Given the description of an element on the screen output the (x, y) to click on. 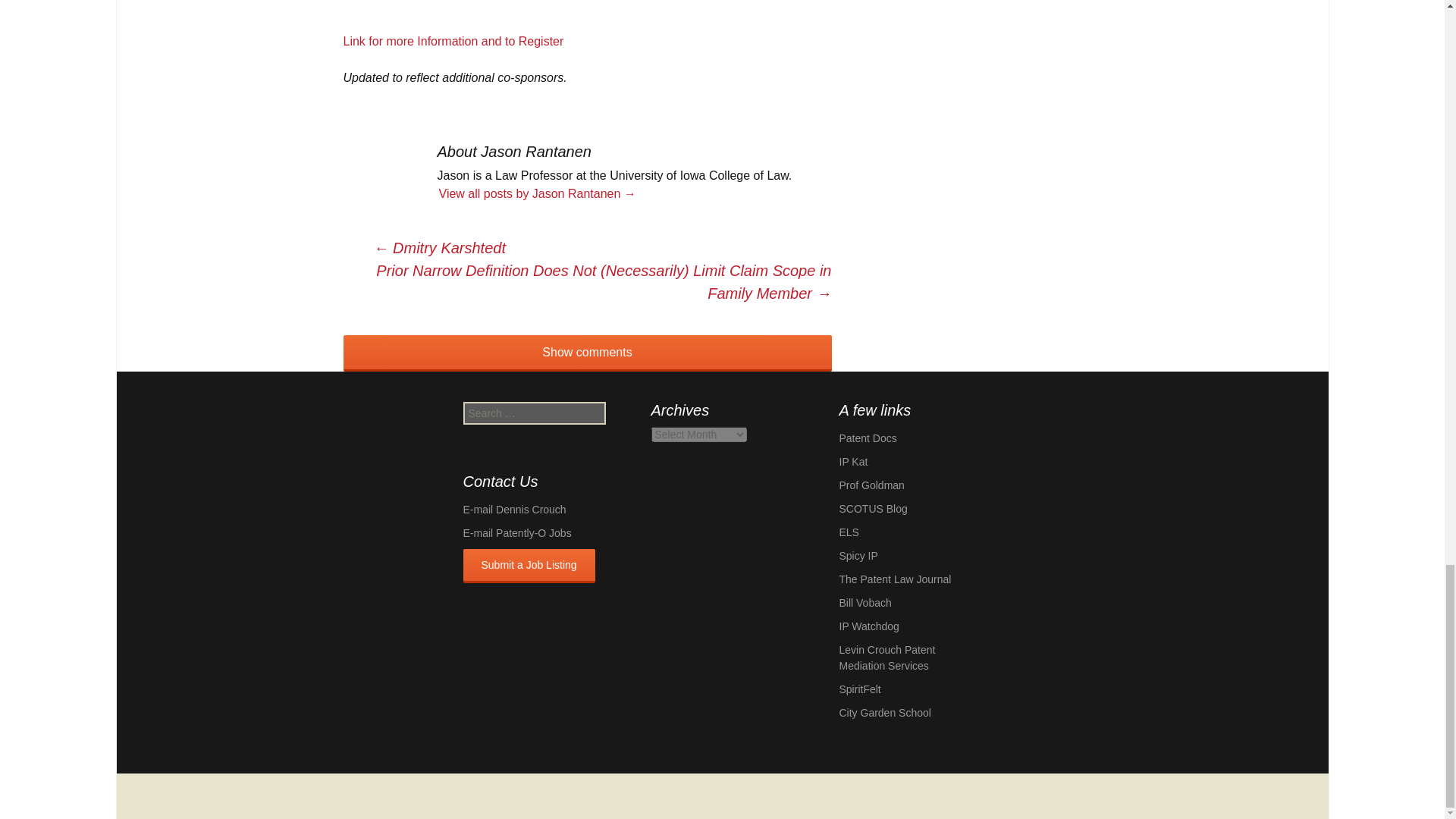
Link for more Information and to Register (452, 41)
